Given the description of an element on the screen output the (x, y) to click on. 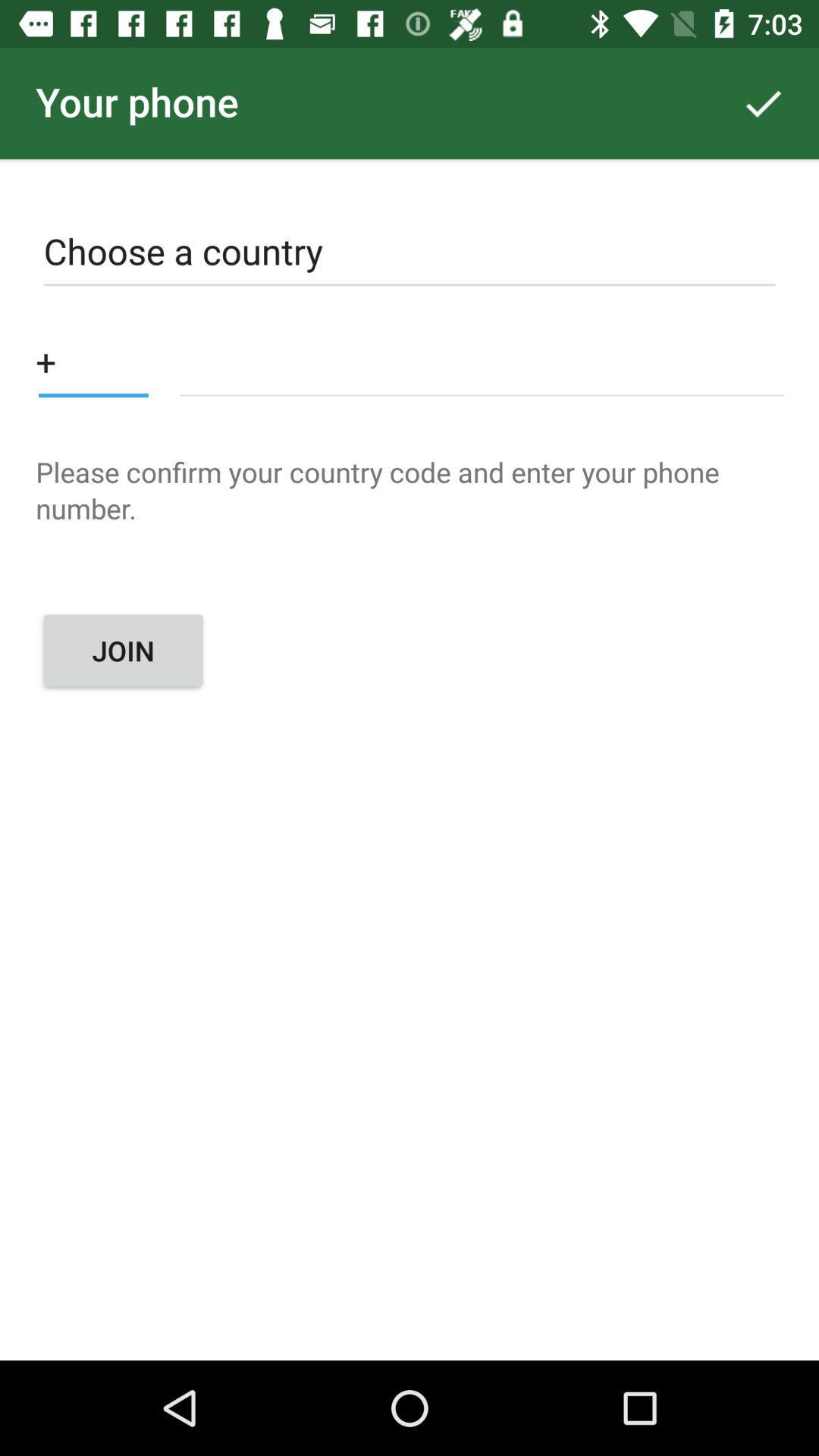
click the join icon (123, 650)
